Given the description of an element on the screen output the (x, y) to click on. 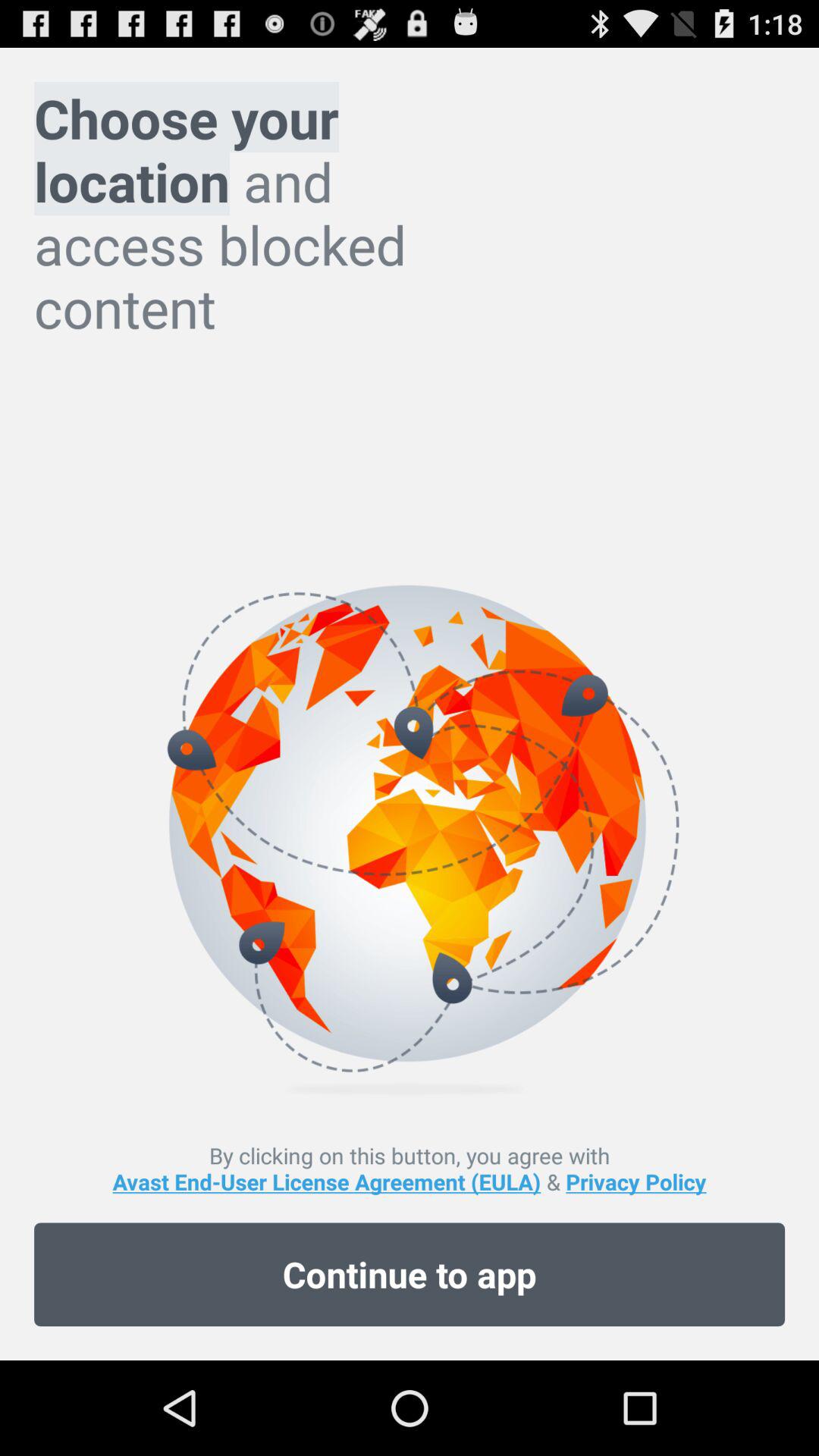
flip to continue to app button (409, 1274)
